Given the description of an element on the screen output the (x, y) to click on. 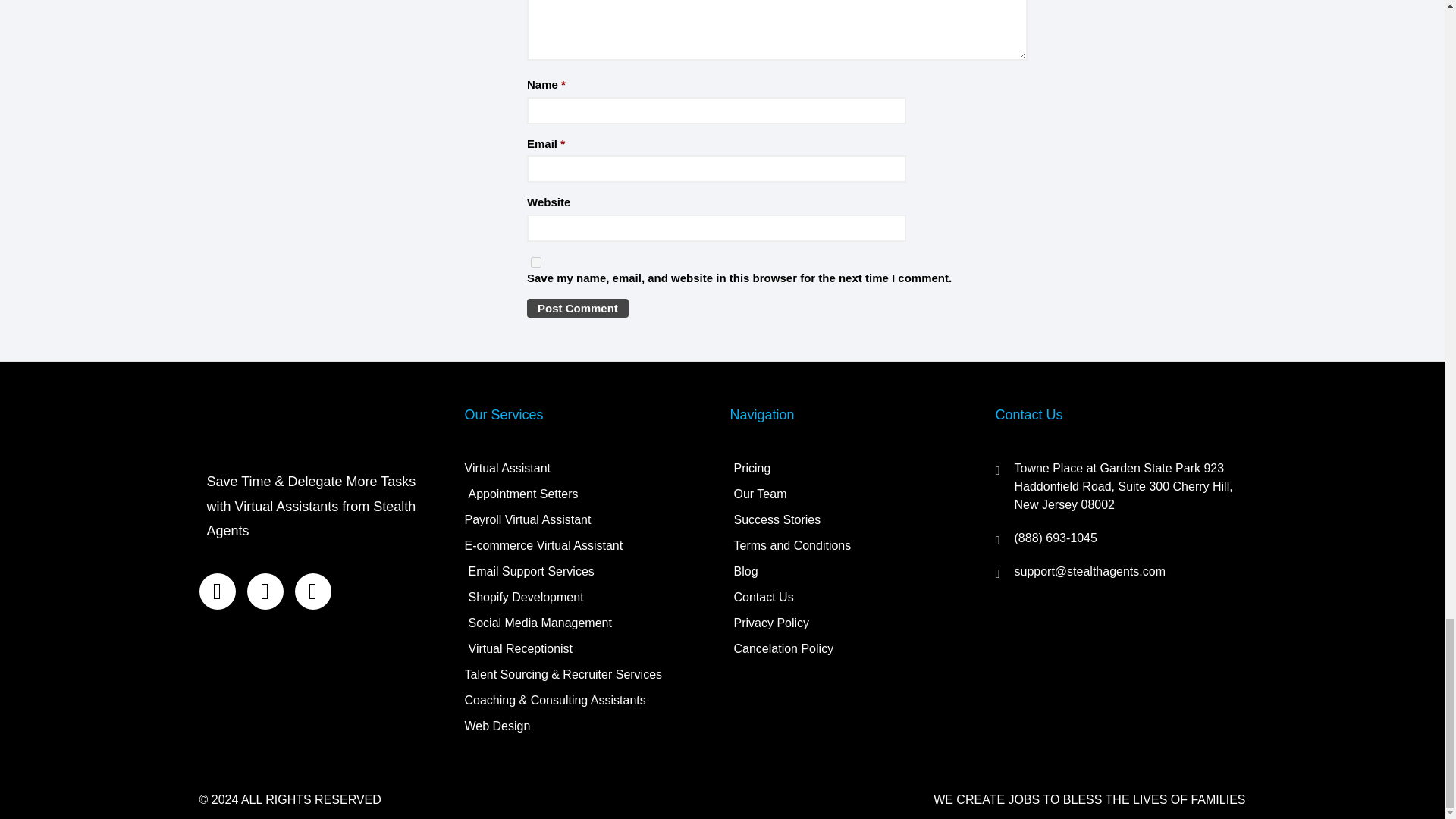
Post Comment (577, 307)
yes (536, 262)
